Given the description of an element on the screen output the (x, y) to click on. 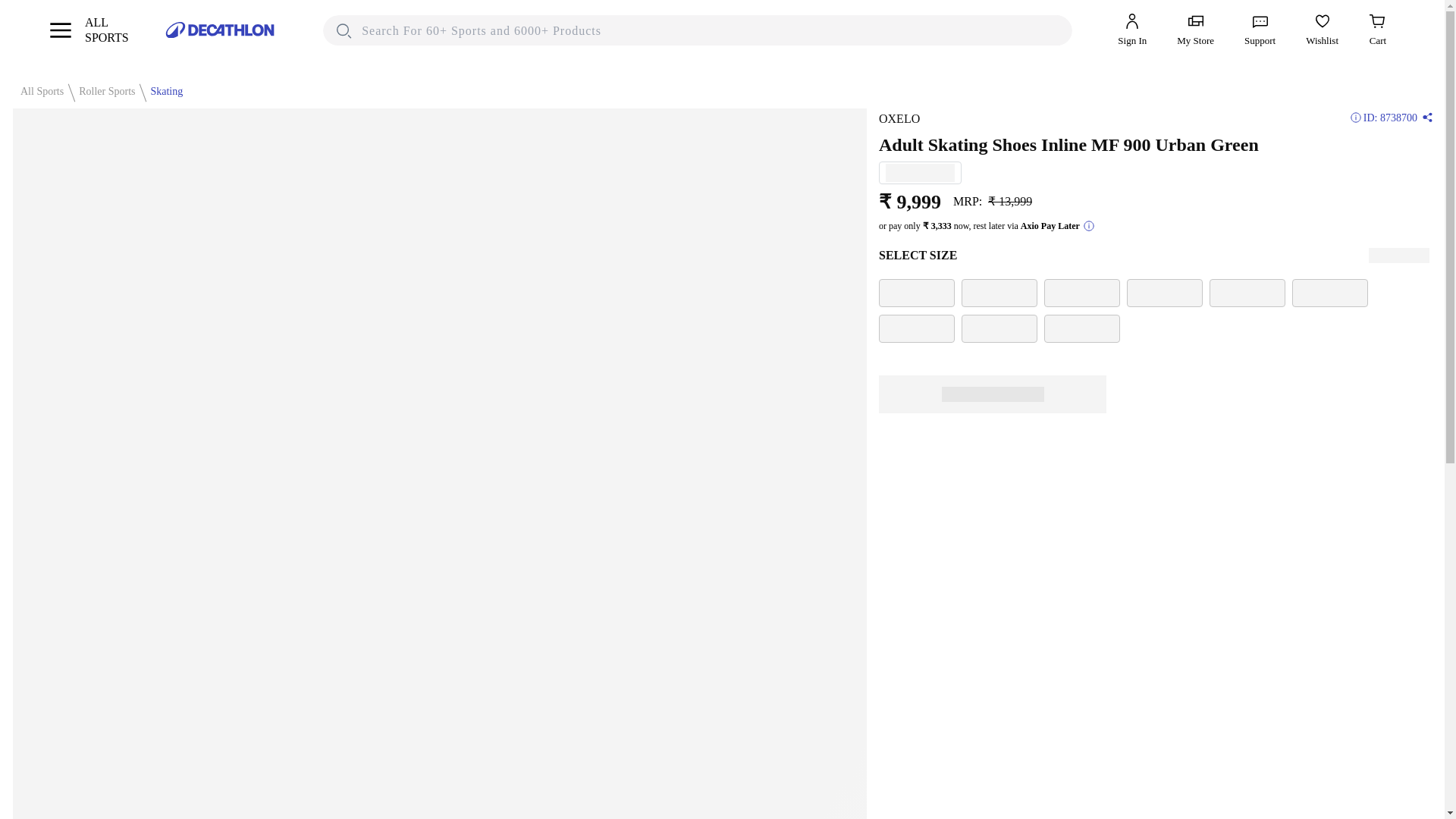
My Store (1195, 30)
Skating (162, 90)
Wishlist (1322, 30)
All Sports (88, 30)
Roller Sports (38, 90)
